Given the description of an element on the screen output the (x, y) to click on. 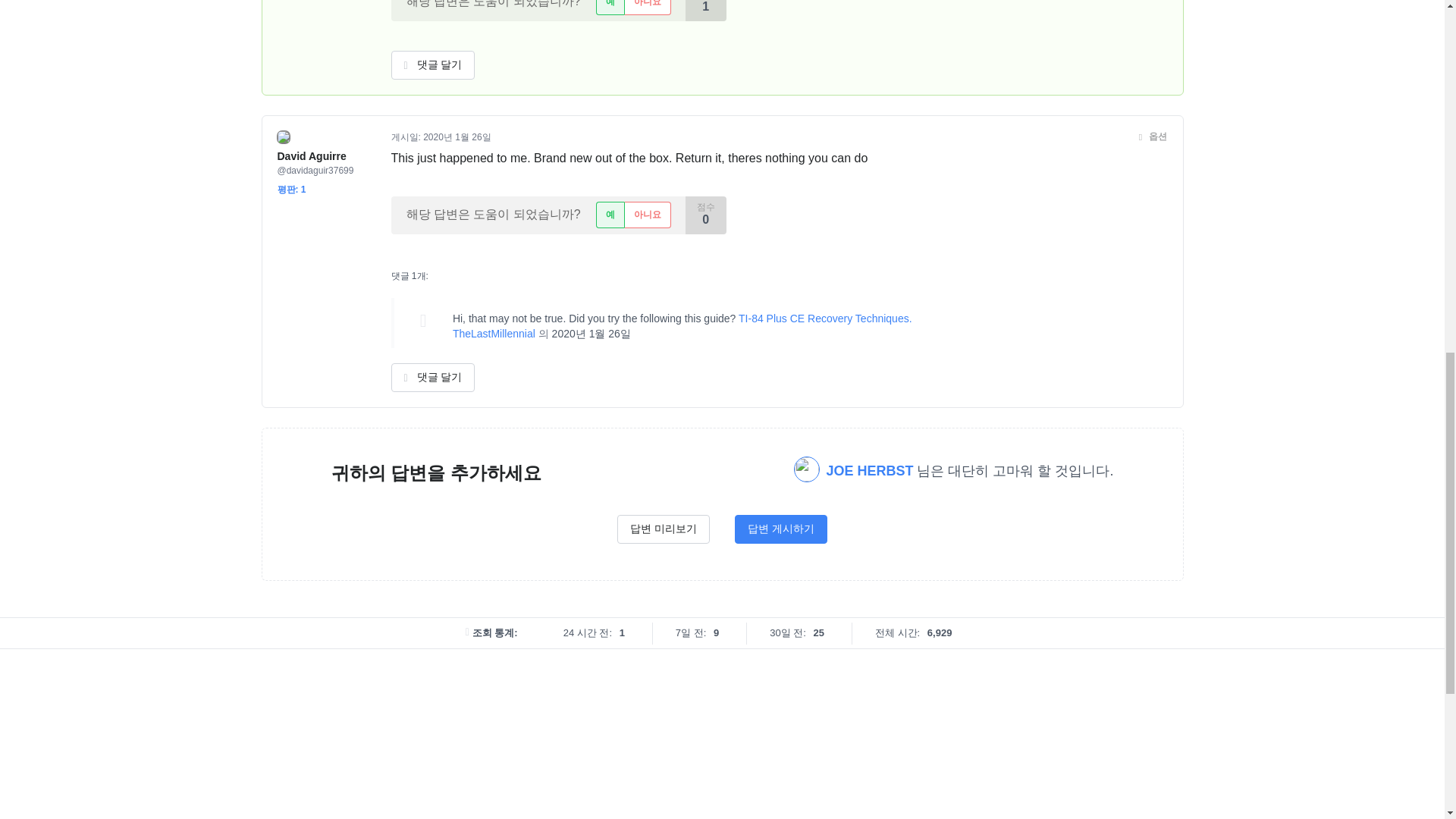
Sun, 26 Jan 2020 21:06:53 -0700 (456, 136)
Sun, 26 Jan 2020 21:13:21 -0700 (590, 333)
